Given the description of an element on the screen output the (x, y) to click on. 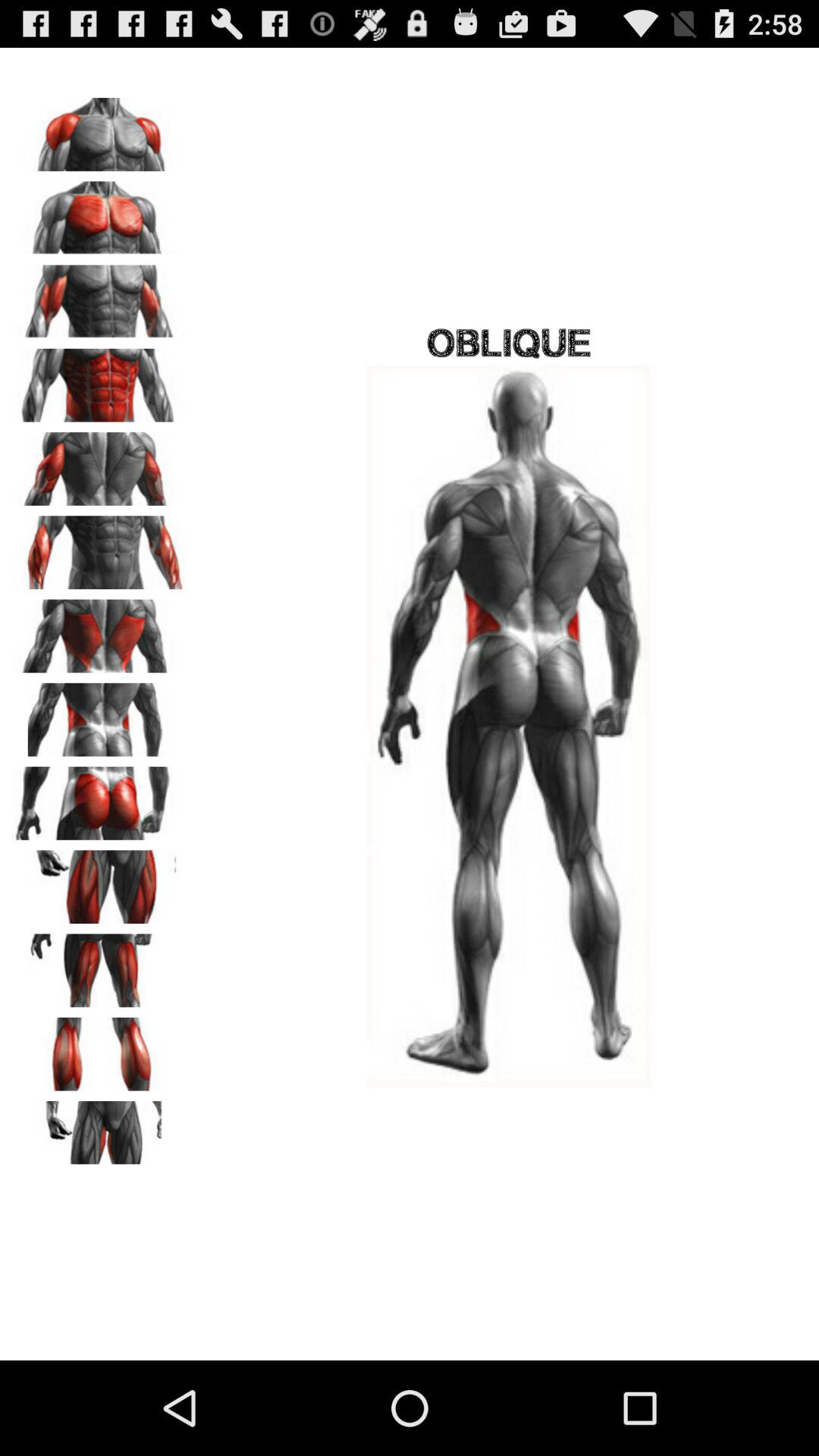
select glutes (99, 798)
